Given the description of an element on the screen output the (x, y) to click on. 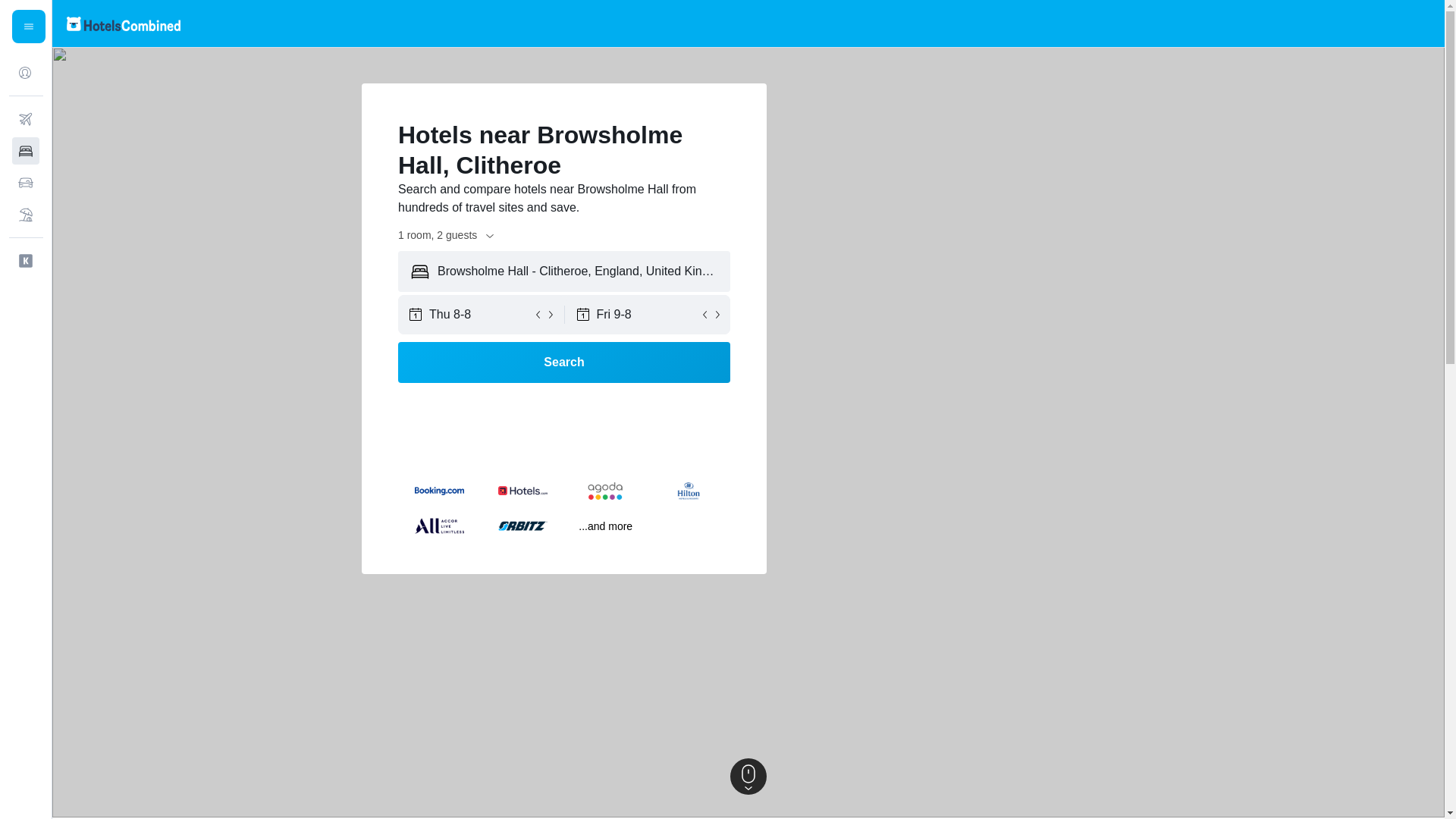
Search (563, 362)
1 room, 2 guests (446, 235)
Search (563, 362)
